Given the description of an element on the screen output the (x, y) to click on. 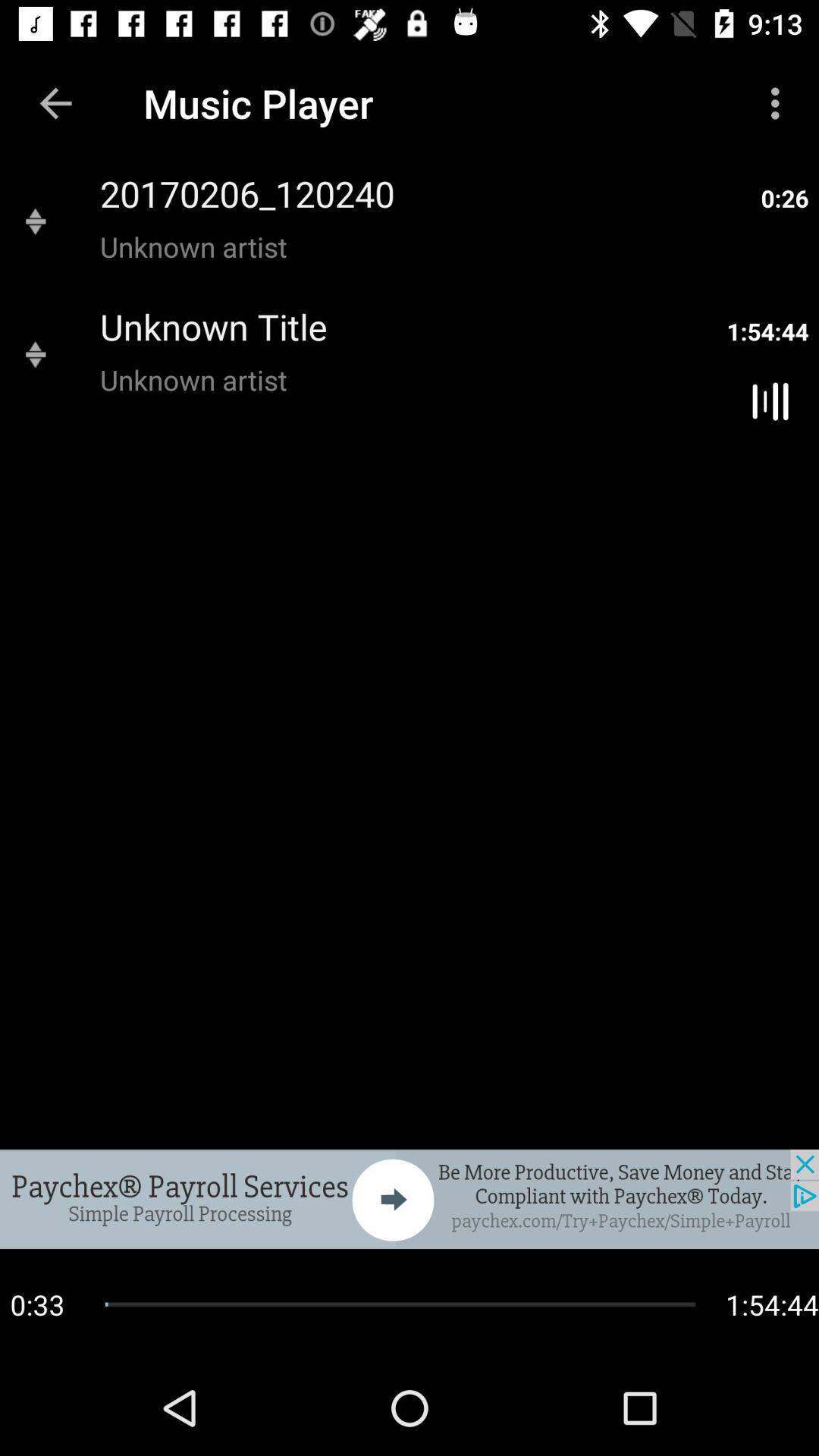
click the add (409, 1198)
